Given the description of an element on the screen output the (x, y) to click on. 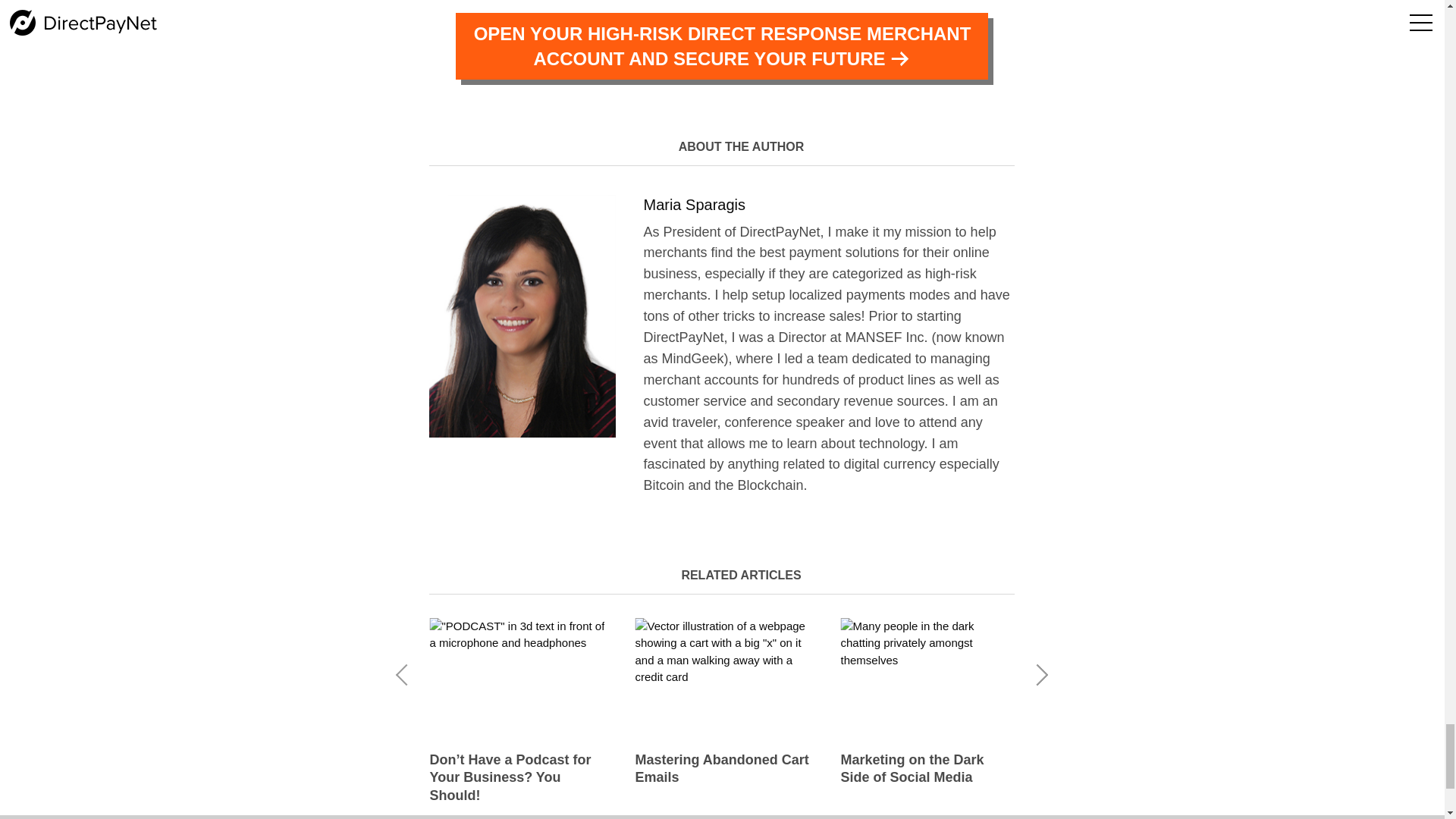
Posts by Maria Sparagis (694, 204)
